Given the description of an element on the screen output the (x, y) to click on. 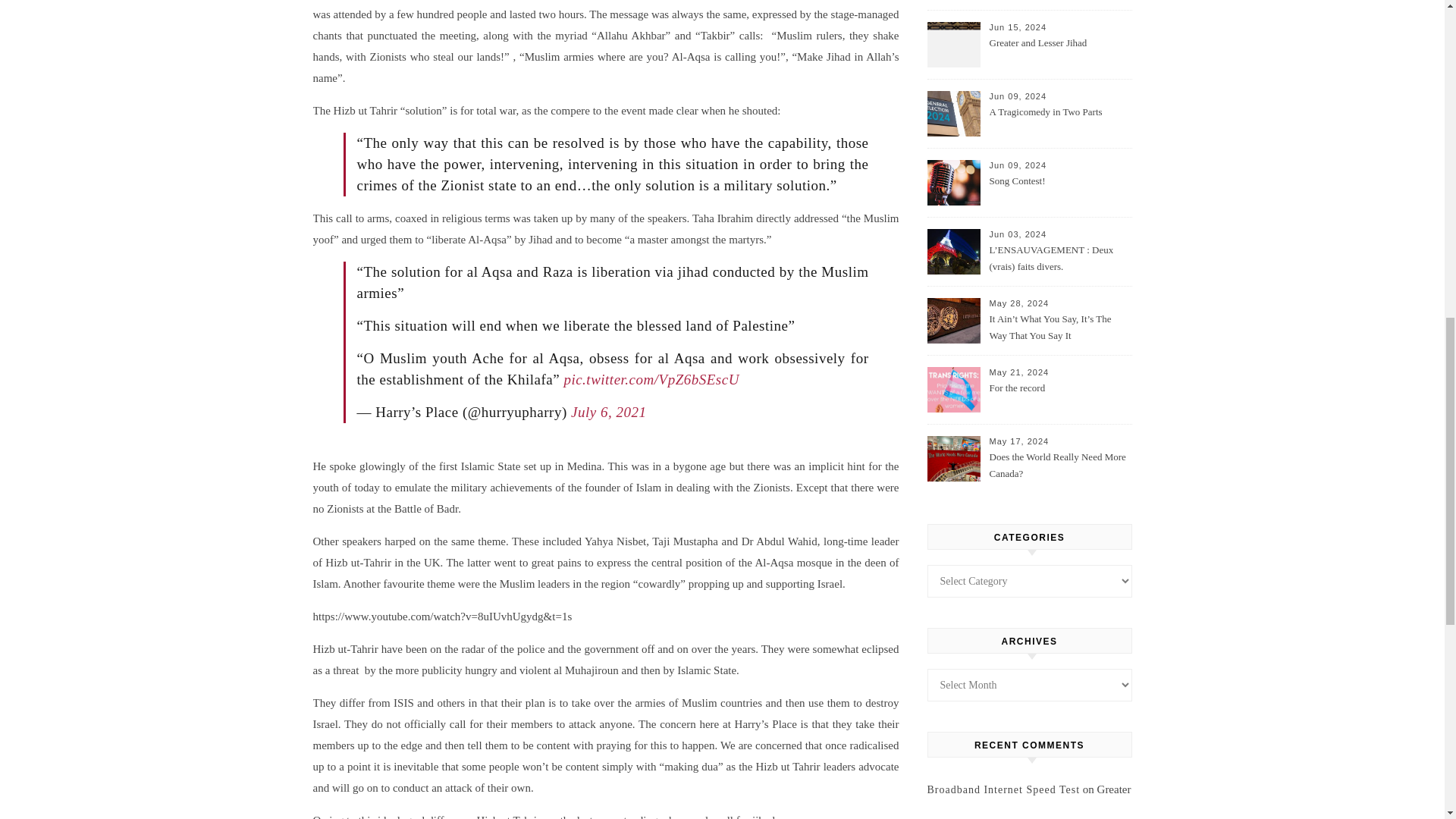
A Tragicomedy in Two Parts (1058, 121)
Song Contest! (1058, 190)
Greater and Lesser Jihad (1058, 52)
July 6, 2021 (608, 412)
